Given the description of an element on the screen output the (x, y) to click on. 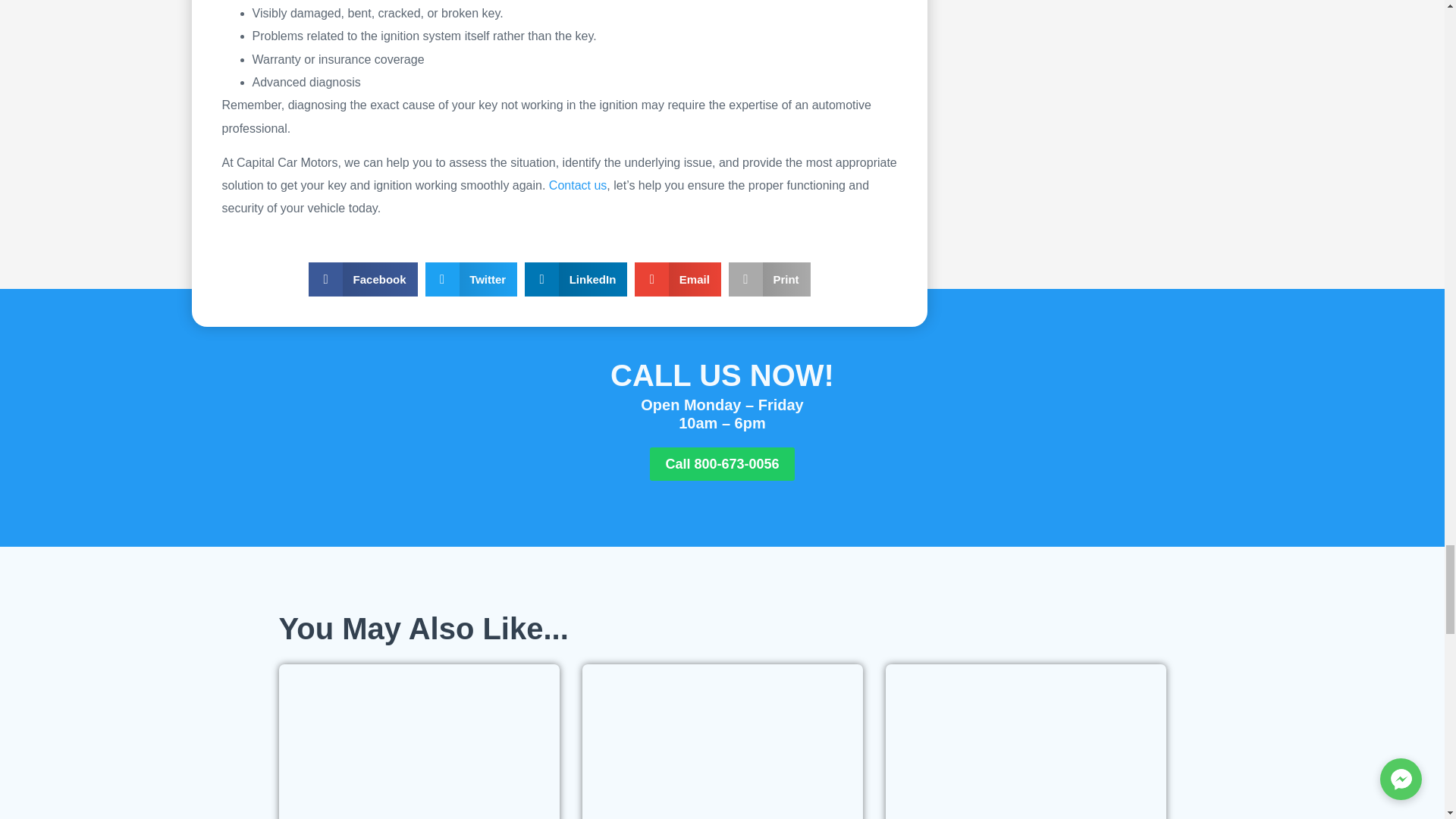
Contact us (577, 185)
